Given the description of an element on the screen output the (x, y) to click on. 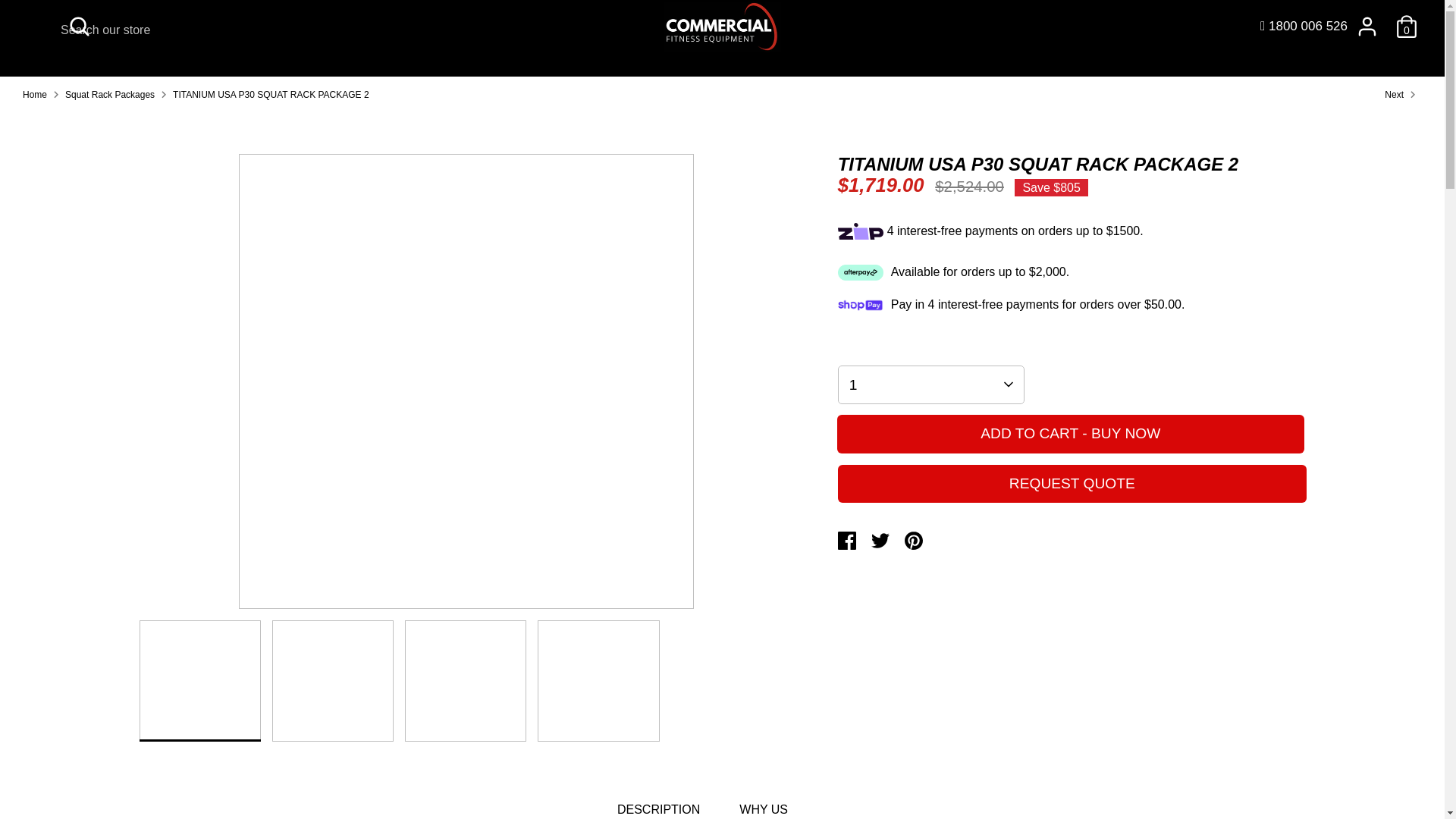
TITANIUM USA P30 SQUAT RACK PACKAGE 1 (1403, 94)
0 (1406, 26)
1800 006 526 (1304, 26)
